Given the description of an element on the screen output the (x, y) to click on. 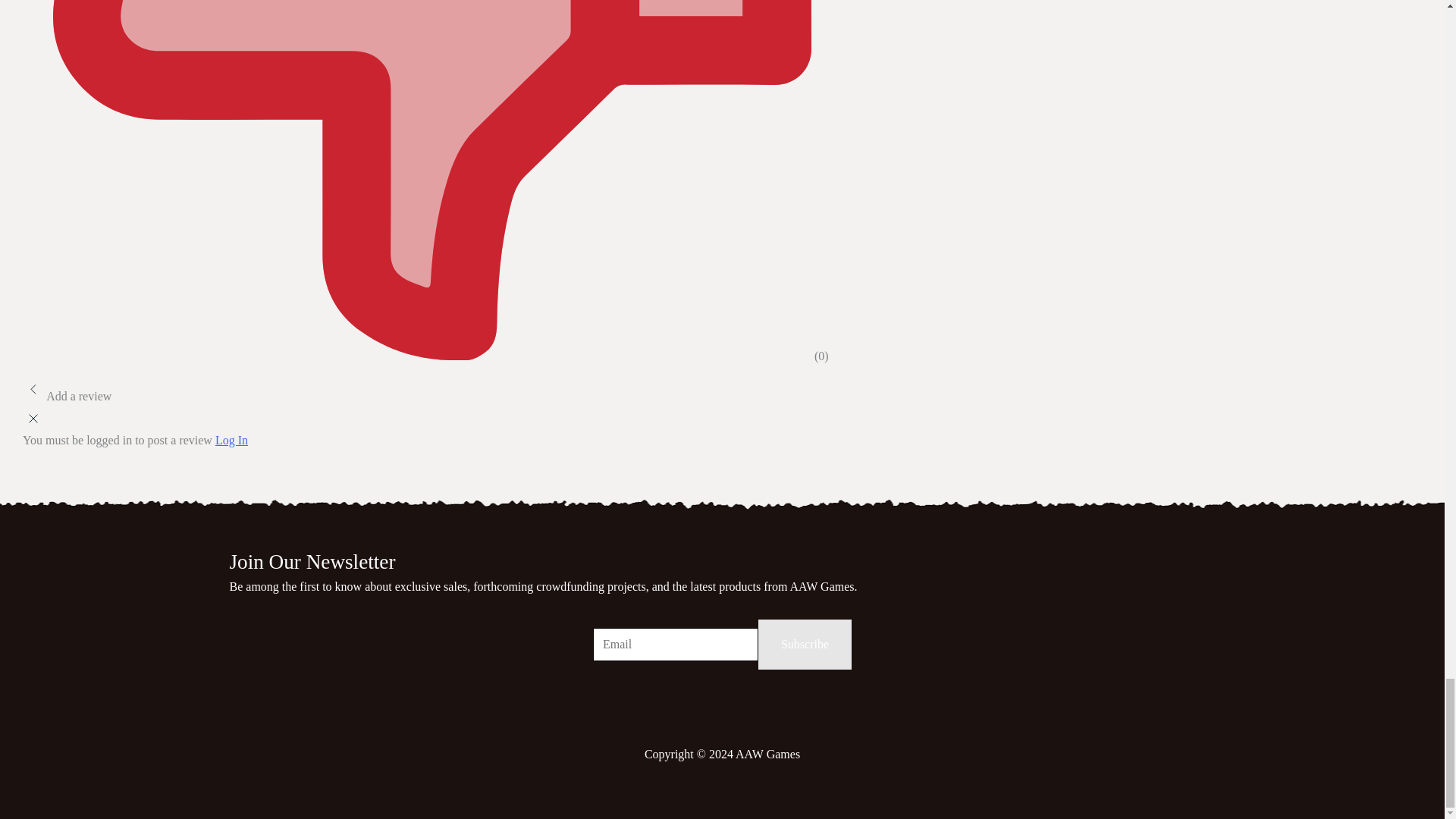
Subscribe (804, 644)
